Given the description of an element on the screen output the (x, y) to click on. 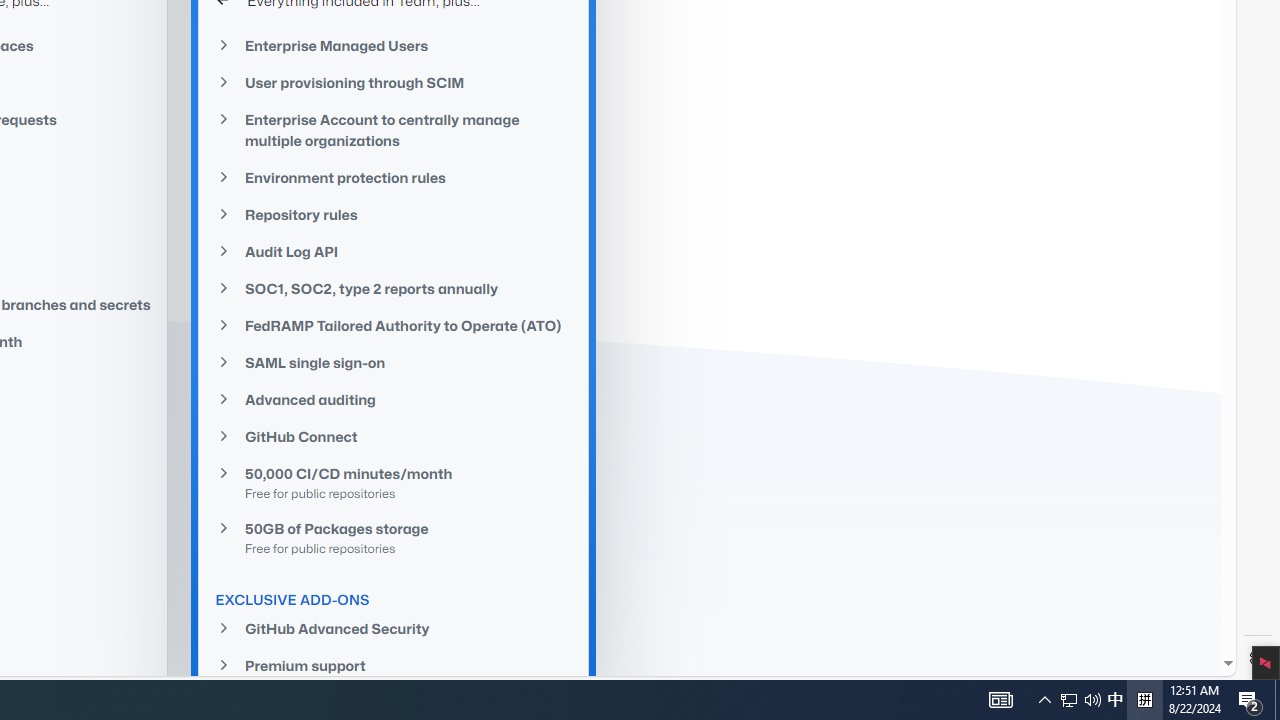
Advanced auditing (394, 399)
